Given the description of an element on the screen output the (x, y) to click on. 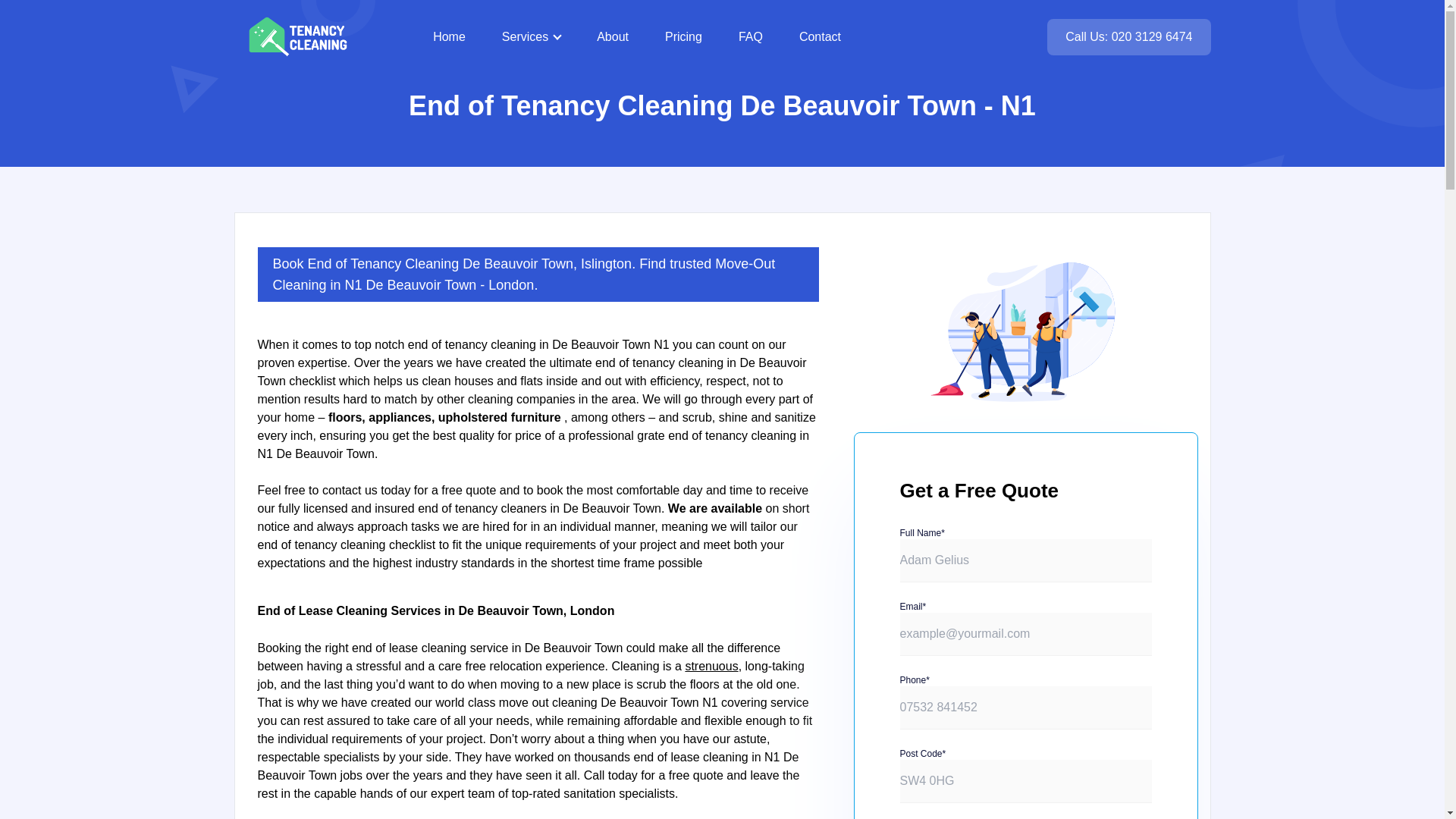
FAQ (750, 36)
Call Us: 020 3129 6474 (1127, 36)
About (612, 36)
Pricing (683, 36)
FAQ (750, 36)
Contact (820, 36)
Services (531, 36)
Contact (820, 36)
Pricing (683, 36)
Home (448, 36)
Home (448, 36)
About (612, 36)
